Given the description of an element on the screen output the (x, y) to click on. 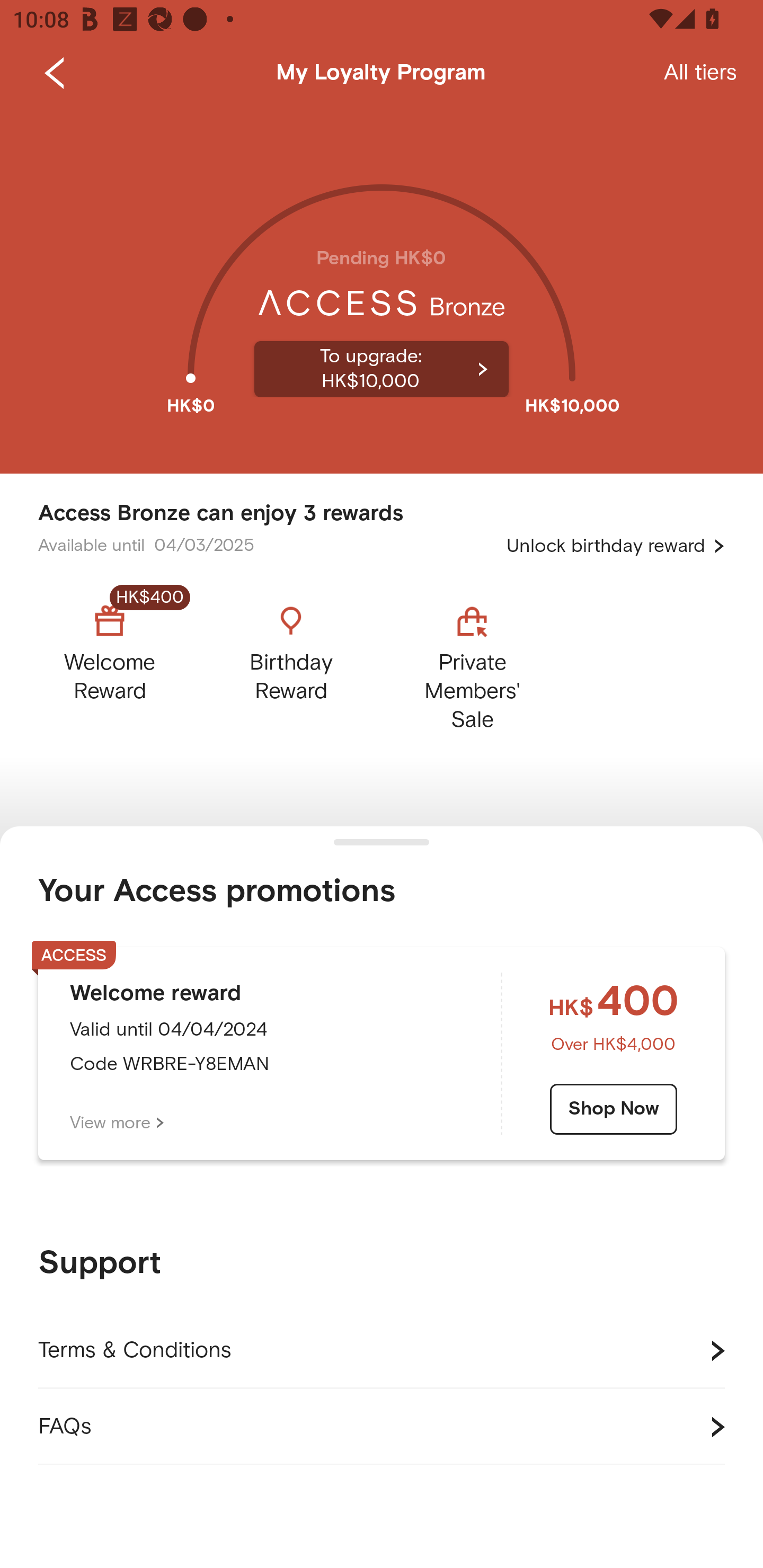
All tiers (700, 72)
HK$0 HK$10,000 Pending HK$0 To upgrade: HK$10,000 (381, 290)
Unlock birthday reward (615, 546)
HK$400 Welcome Reward (125, 662)
Birthday Reward (290, 662)
Private Members' Sale (471, 662)
Shop Now (613, 1109)
View more (117, 1123)
Terms & Conditions (381, 1350)
FAQs (381, 1426)
